Given the description of an element on the screen output the (x, y) to click on. 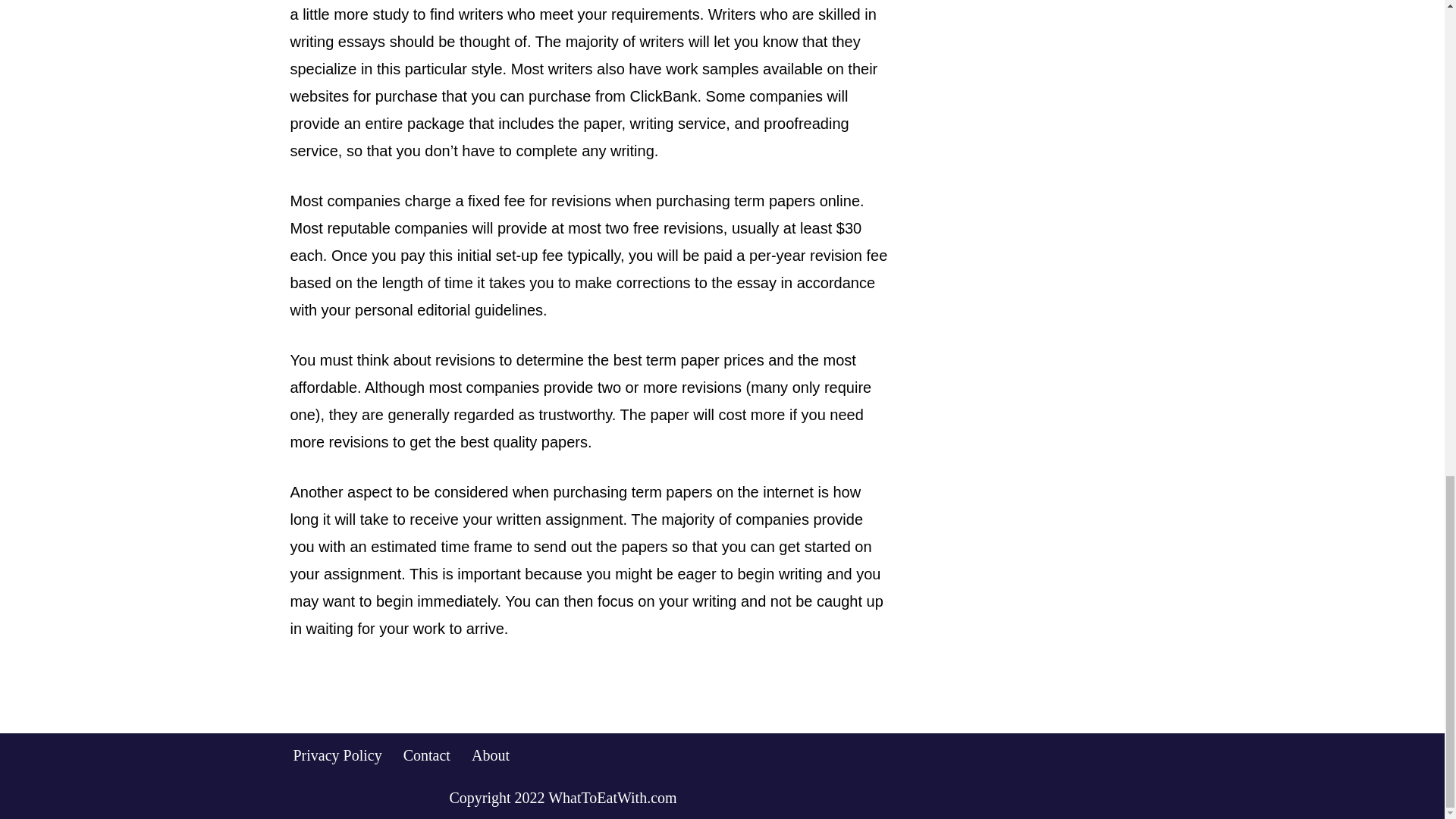
Privacy Policy (336, 754)
Contact (426, 754)
About (490, 754)
